Given the description of an element on the screen output the (x, y) to click on. 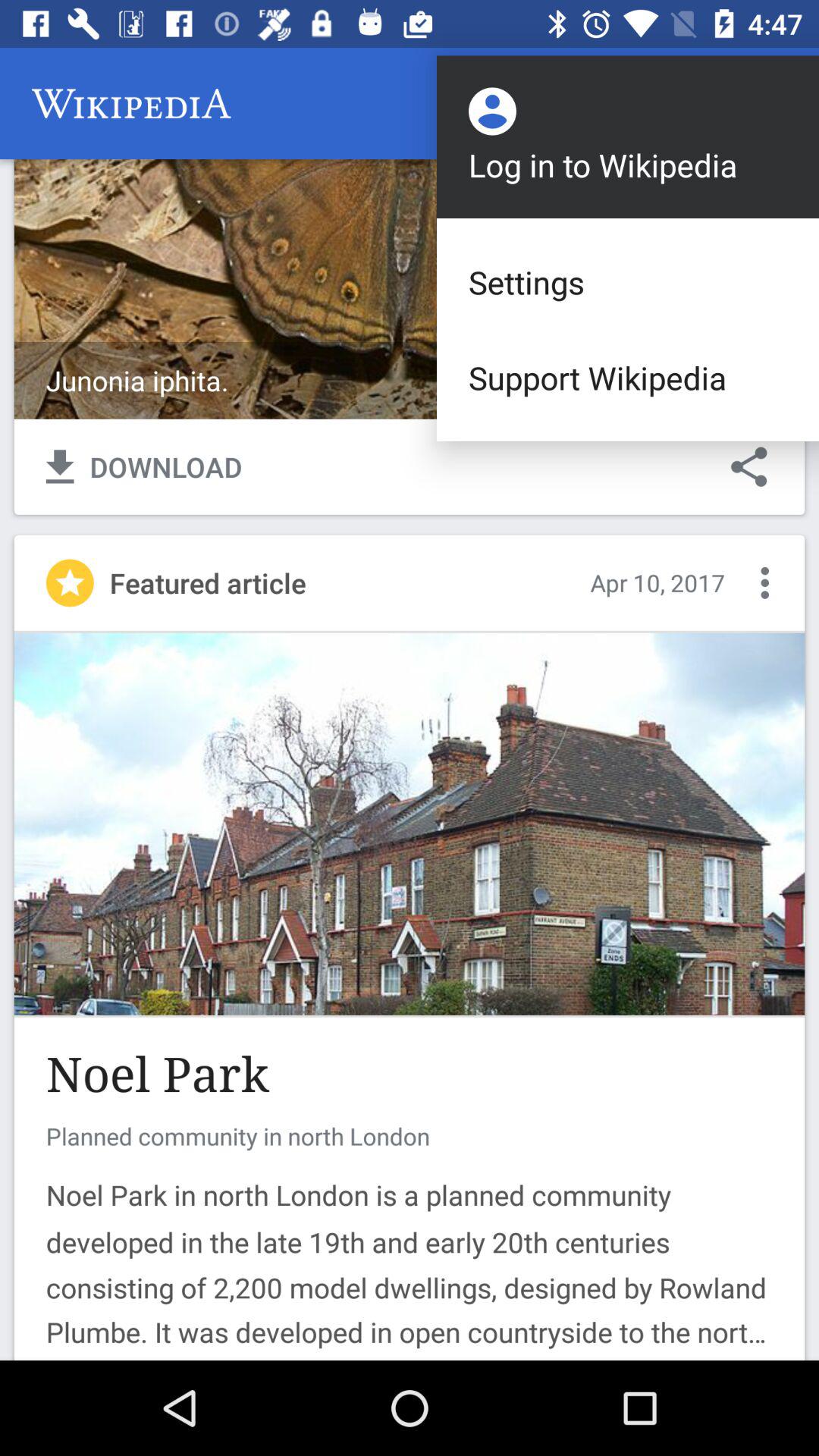
click settings icon (627, 281)
